Given the description of an element on the screen output the (x, y) to click on. 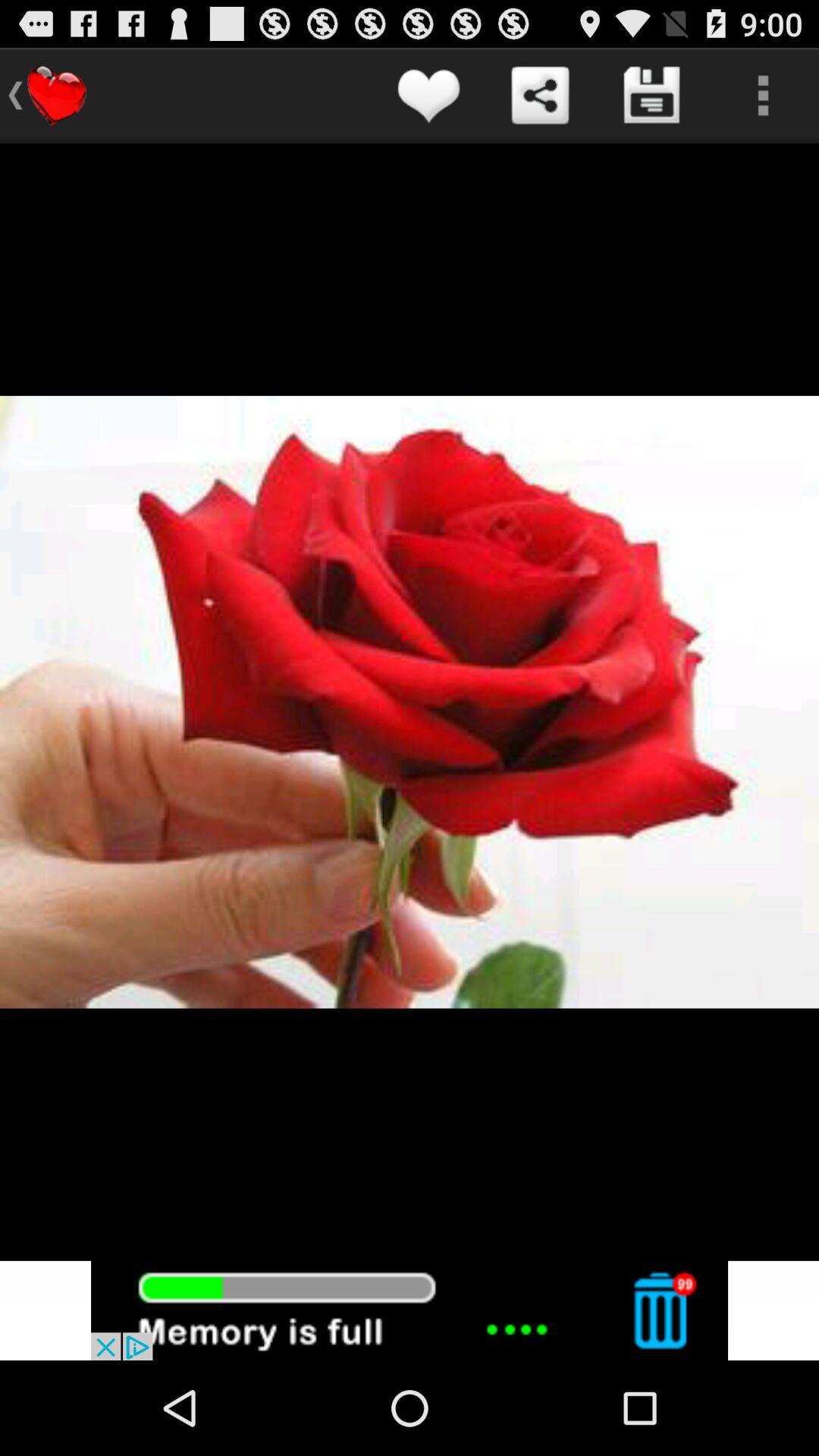
more options (763, 95)
